Given the description of an element on the screen output the (x, y) to click on. 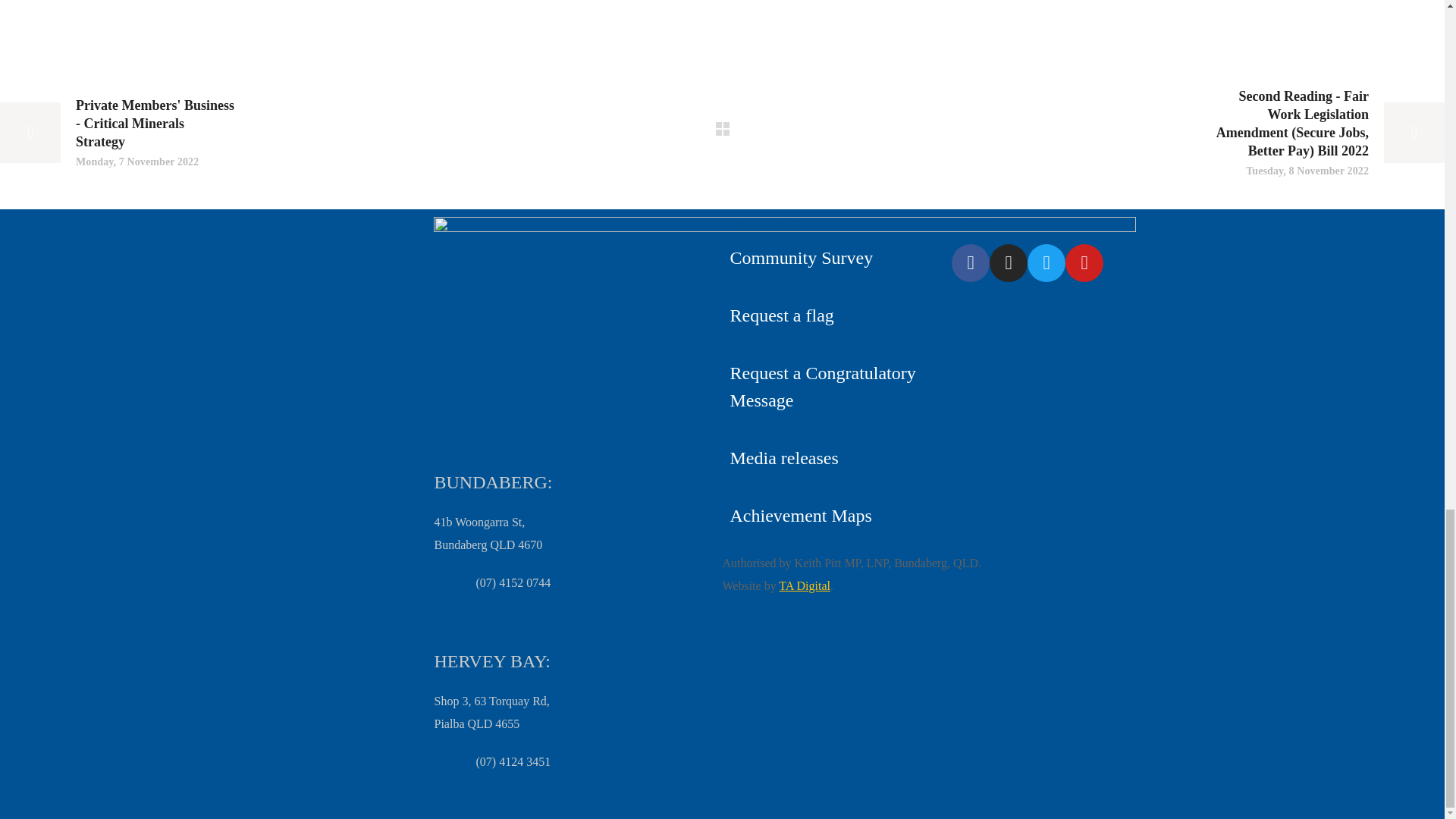
Private Members' Business - Critical Minerals Strategy (117, 132)
